Given the description of an element on the screen output the (x, y) to click on. 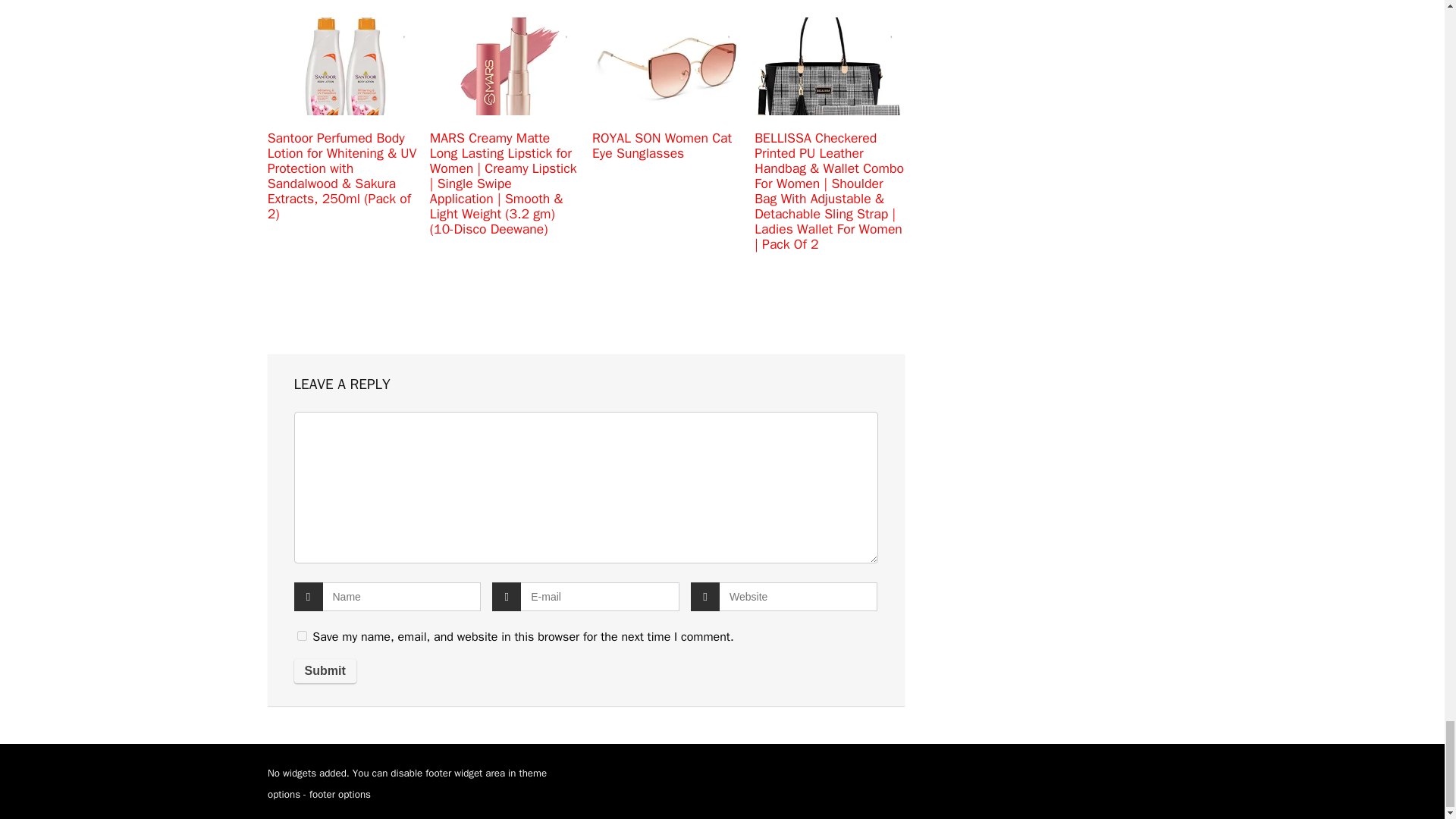
ROYAL SON Women Cat Eye Sunglasses (662, 145)
Submit (325, 671)
yes (302, 635)
Submit (325, 671)
